Given the description of an element on the screen output the (x, y) to click on. 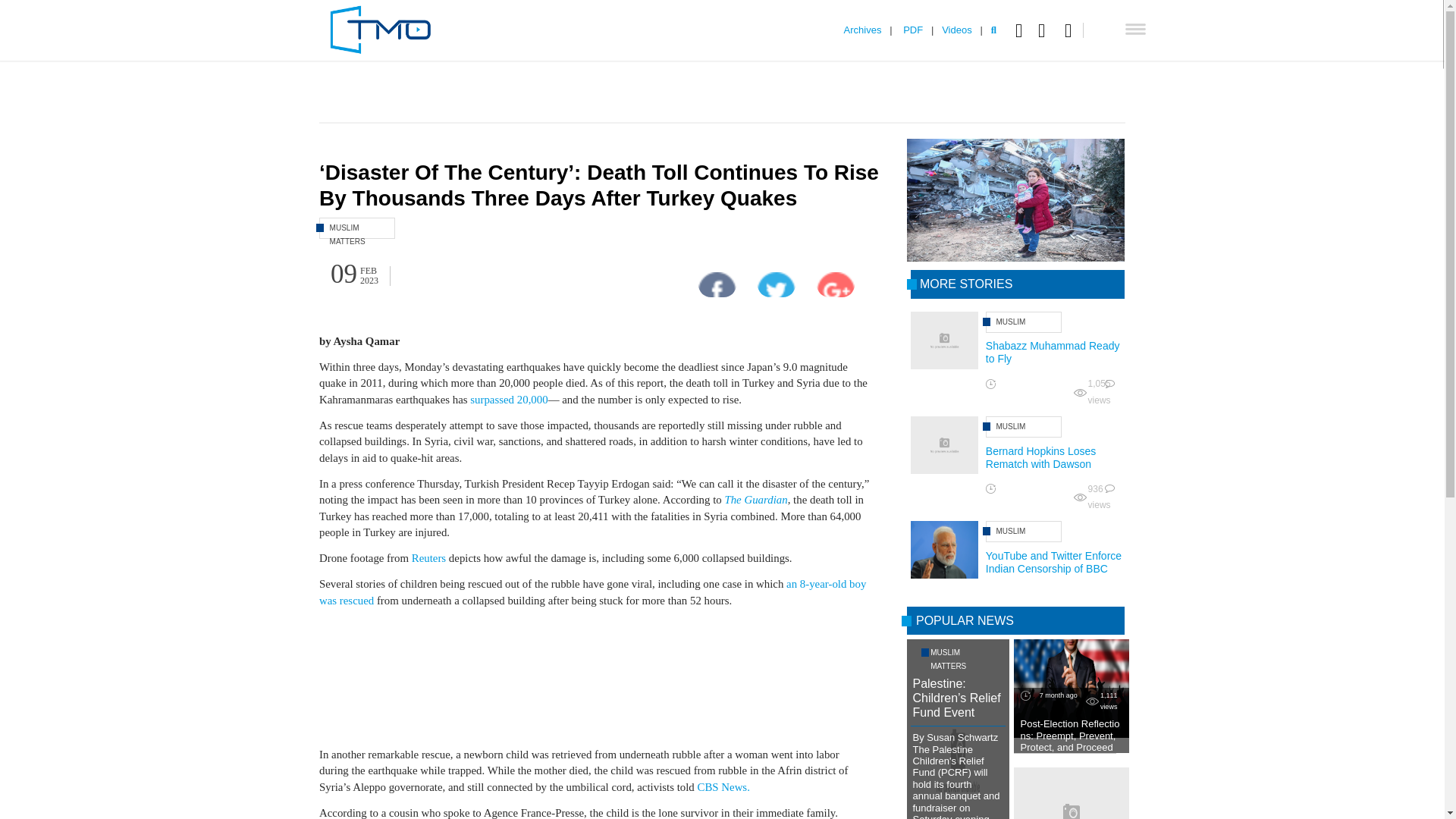
Twitter (1045, 29)
Facebook (1021, 29)
Instagram (1073, 29)
PDF (912, 30)
Videos (957, 30)
Archives (863, 30)
